Given the description of an element on the screen output the (x, y) to click on. 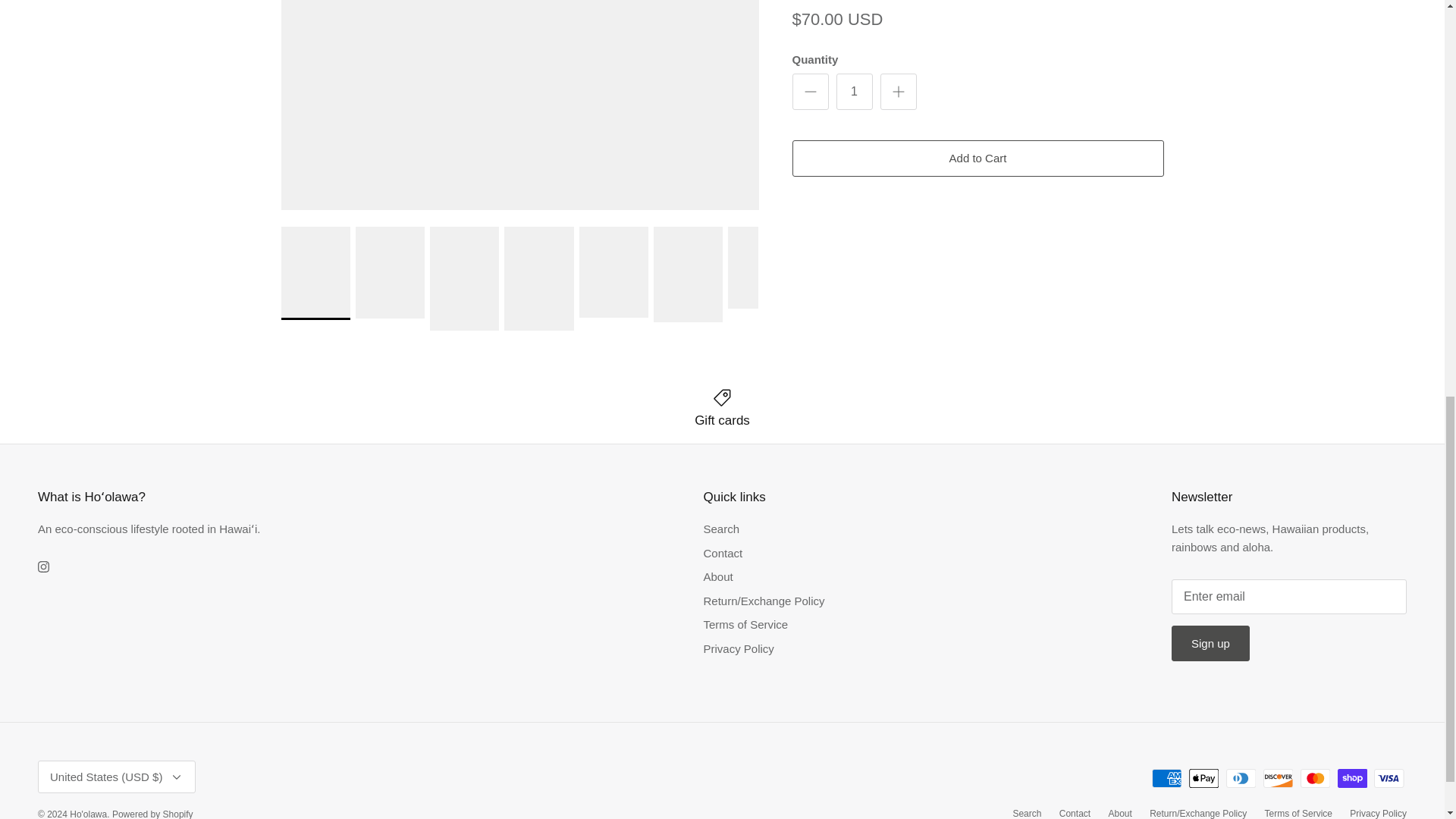
Apple Pay (1203, 778)
Mastercard (1315, 778)
American Express (1166, 778)
Instagram (43, 566)
Minus (809, 91)
Visa (1388, 778)
Down (176, 776)
Plus (897, 91)
Diners Club (1240, 778)
Discover (1277, 778)
Shop Pay (1352, 778)
1 (853, 91)
